Given the description of an element on the screen output the (x, y) to click on. 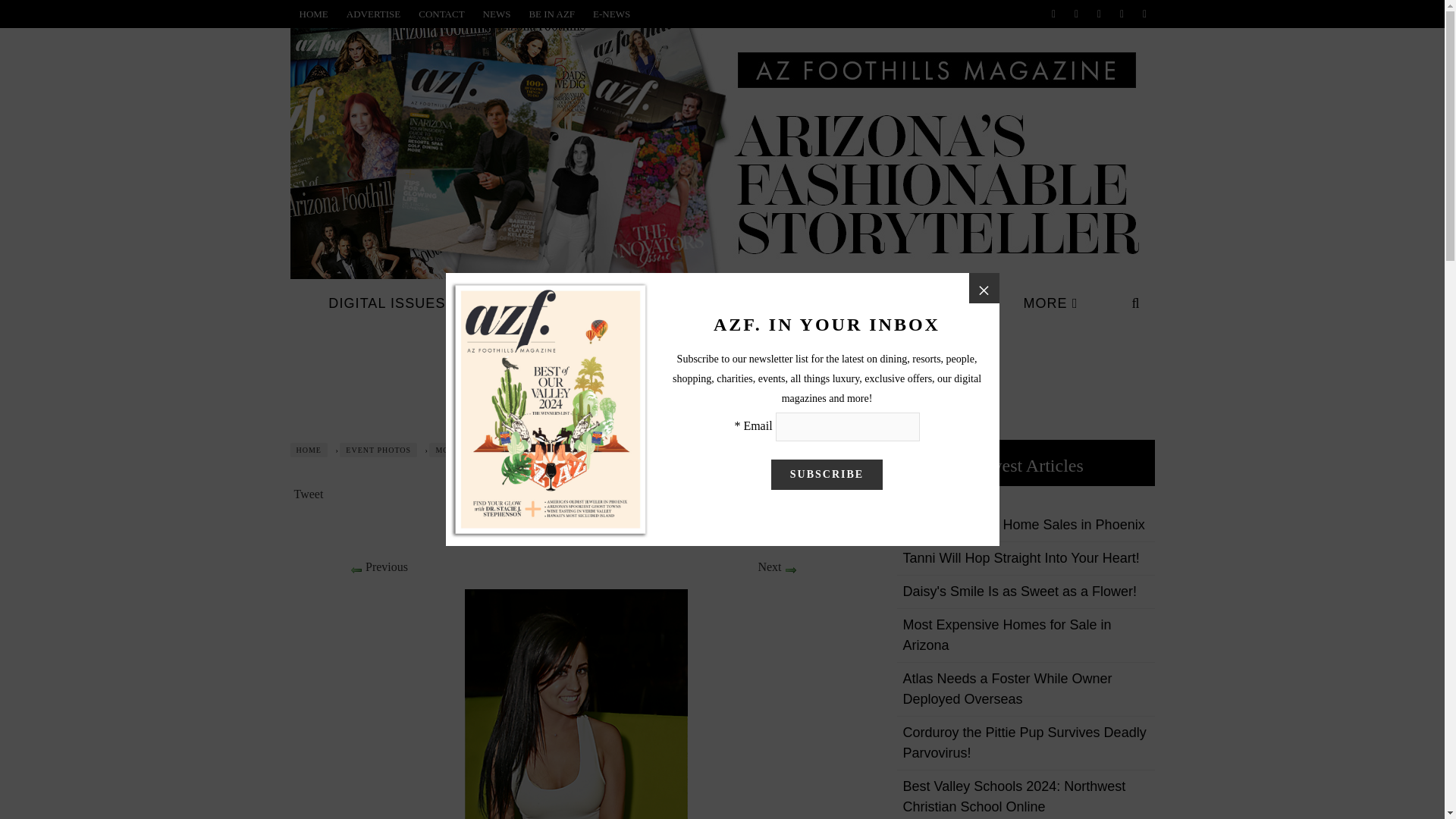
CONTACT (441, 13)
DIGITAL ISSUES (392, 303)
BEST OF AZ (539, 303)
NEWS (497, 13)
BE IN AZF (551, 13)
E-NEWS (611, 13)
HOME (312, 13)
ADVERTISE (373, 13)
